Given the description of an element on the screen output the (x, y) to click on. 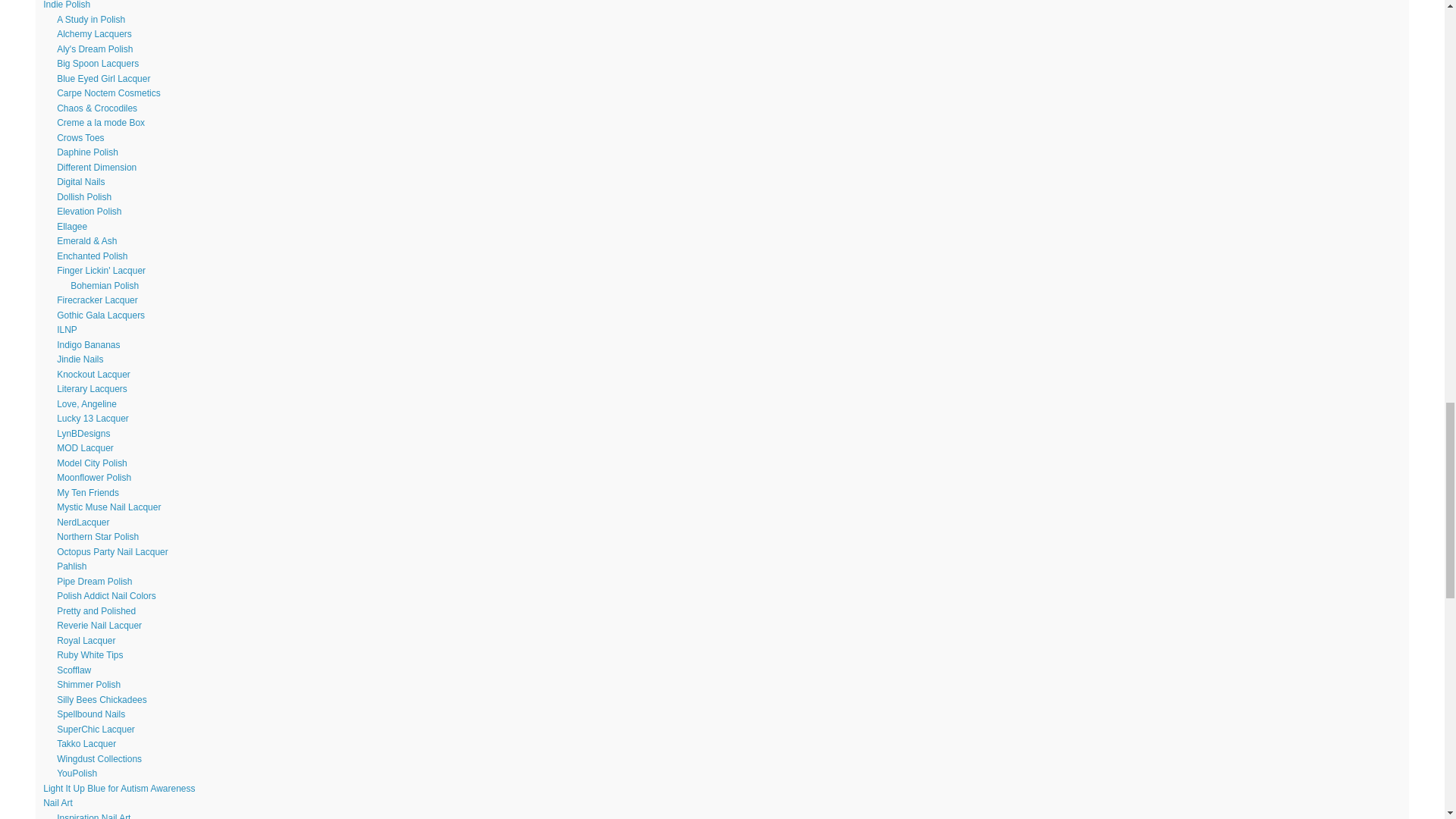
Indie Polish (66, 4)
Alchemy Lacquers (94, 33)
A Study in Polish (90, 19)
